Given the description of an element on the screen output the (x, y) to click on. 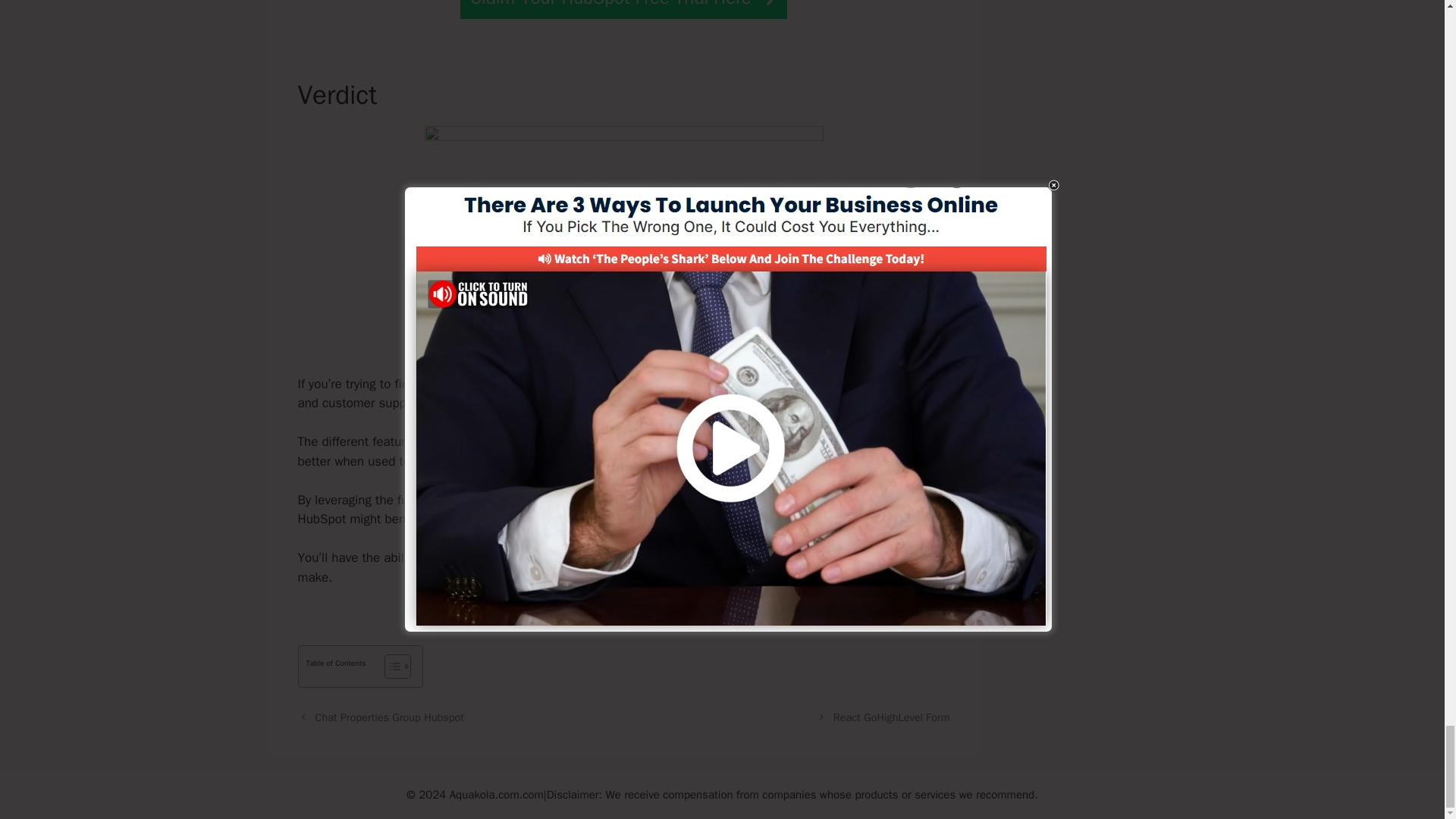
CRM system (464, 383)
Claim Your HubSpot Free Trial Here (623, 9)
sign up for a free trial today (590, 519)
